Given the description of an element on the screen output the (x, y) to click on. 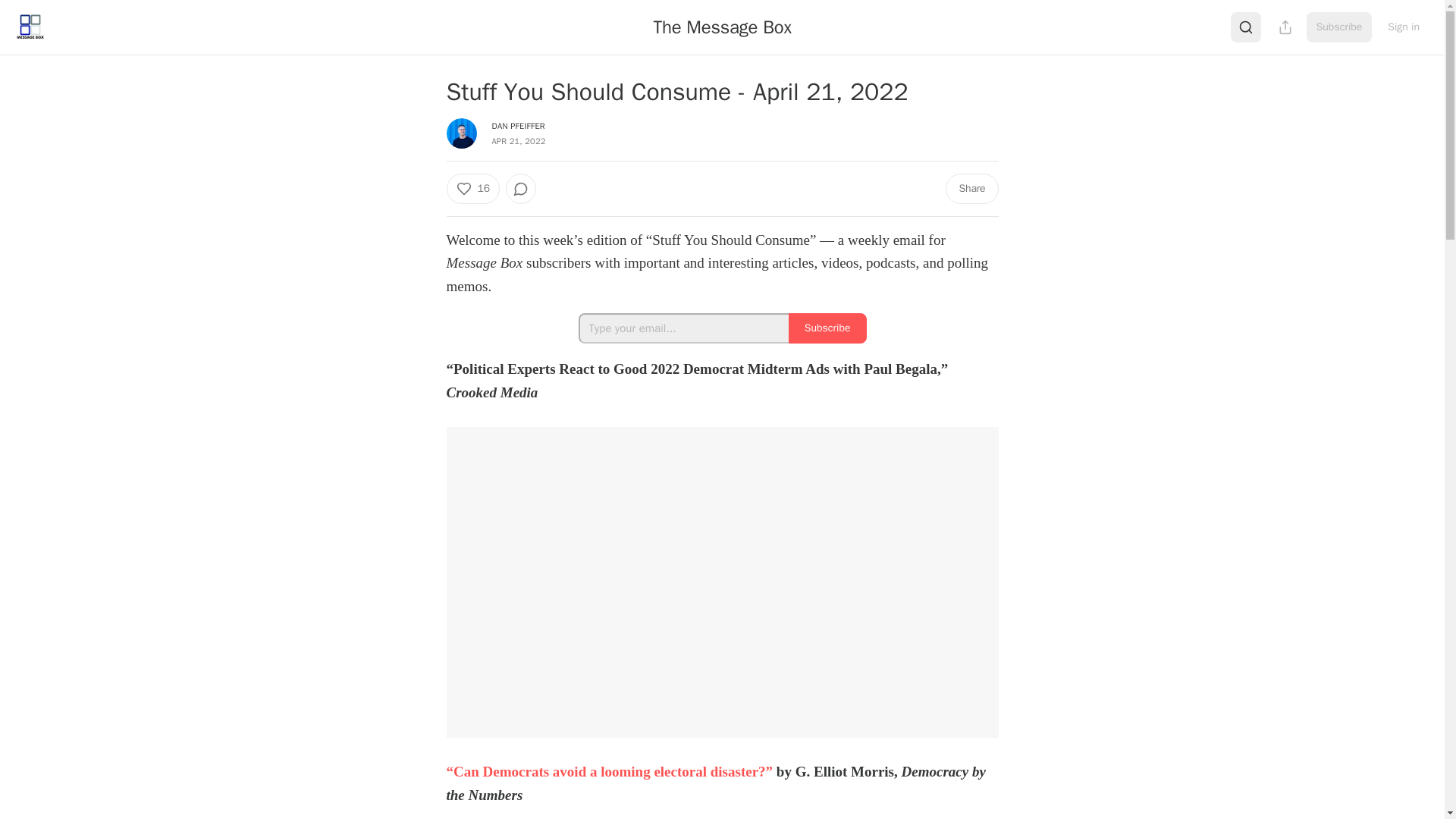
The Message Box (722, 26)
Sign in (1403, 27)
Subscribe (1339, 27)
16 (472, 188)
DAN PFEIFFER (518, 125)
Share (970, 188)
Subscribe (827, 327)
